Given the description of an element on the screen output the (x, y) to click on. 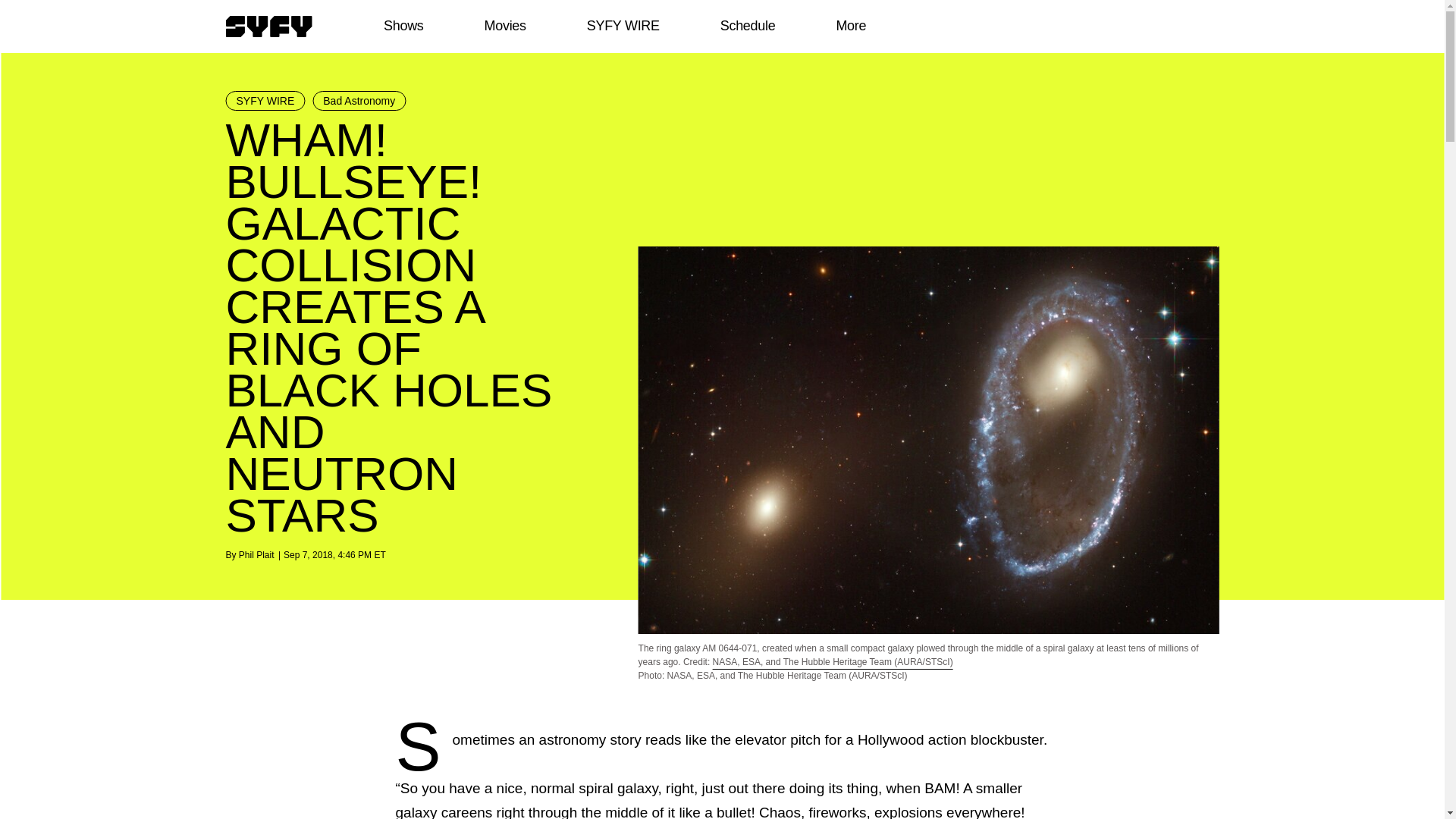
More (850, 26)
Bad Astronomy (359, 100)
Movies (504, 26)
SYFY WIRE (622, 26)
SYFY WIRE (265, 100)
Schedule (746, 26)
Shows (403, 26)
Phil Plait (256, 554)
